Given the description of an element on the screen output the (x, y) to click on. 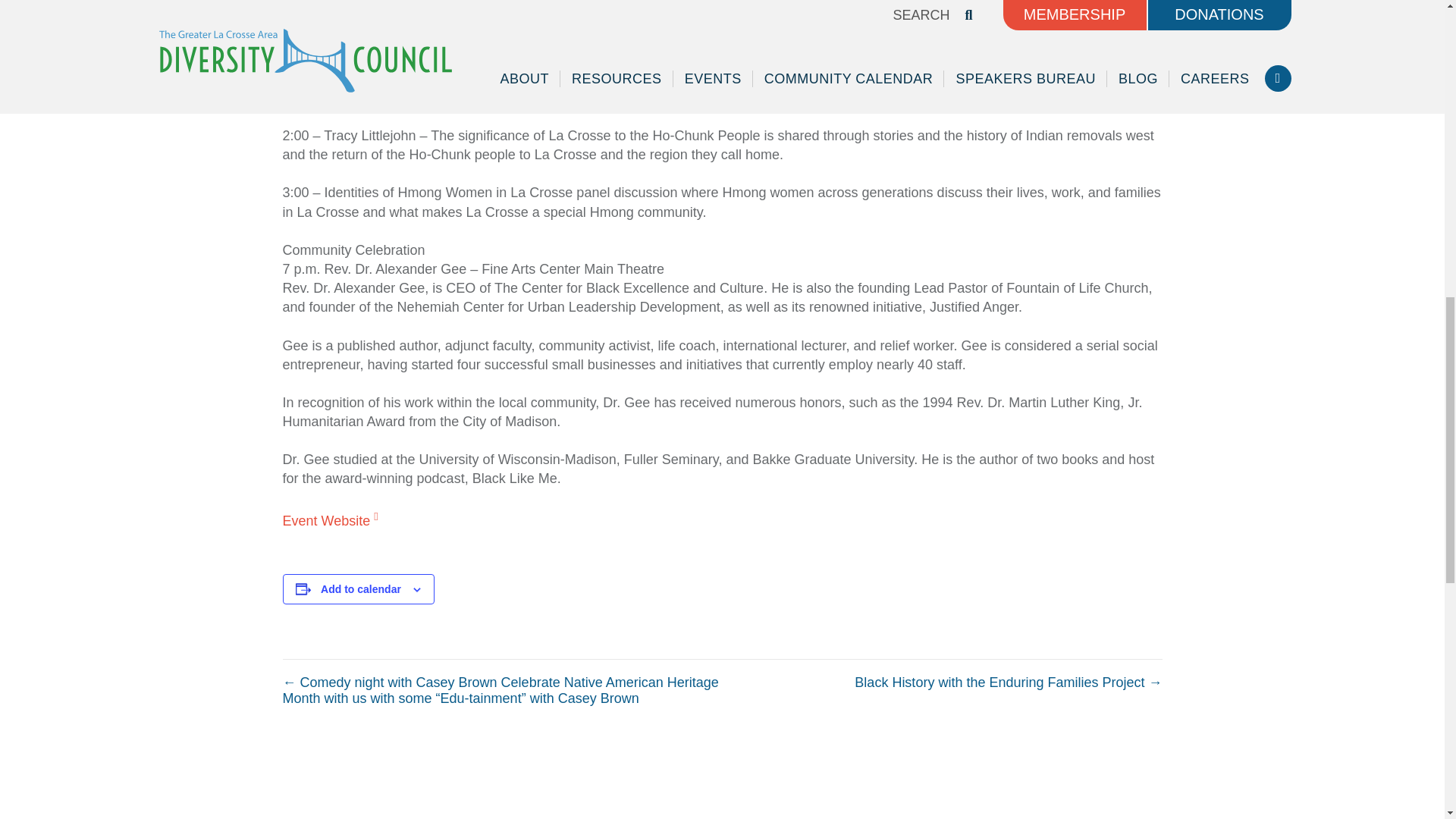
Add to calendar (360, 589)
Event Website (329, 520)
